Given the description of an element on the screen output the (x, y) to click on. 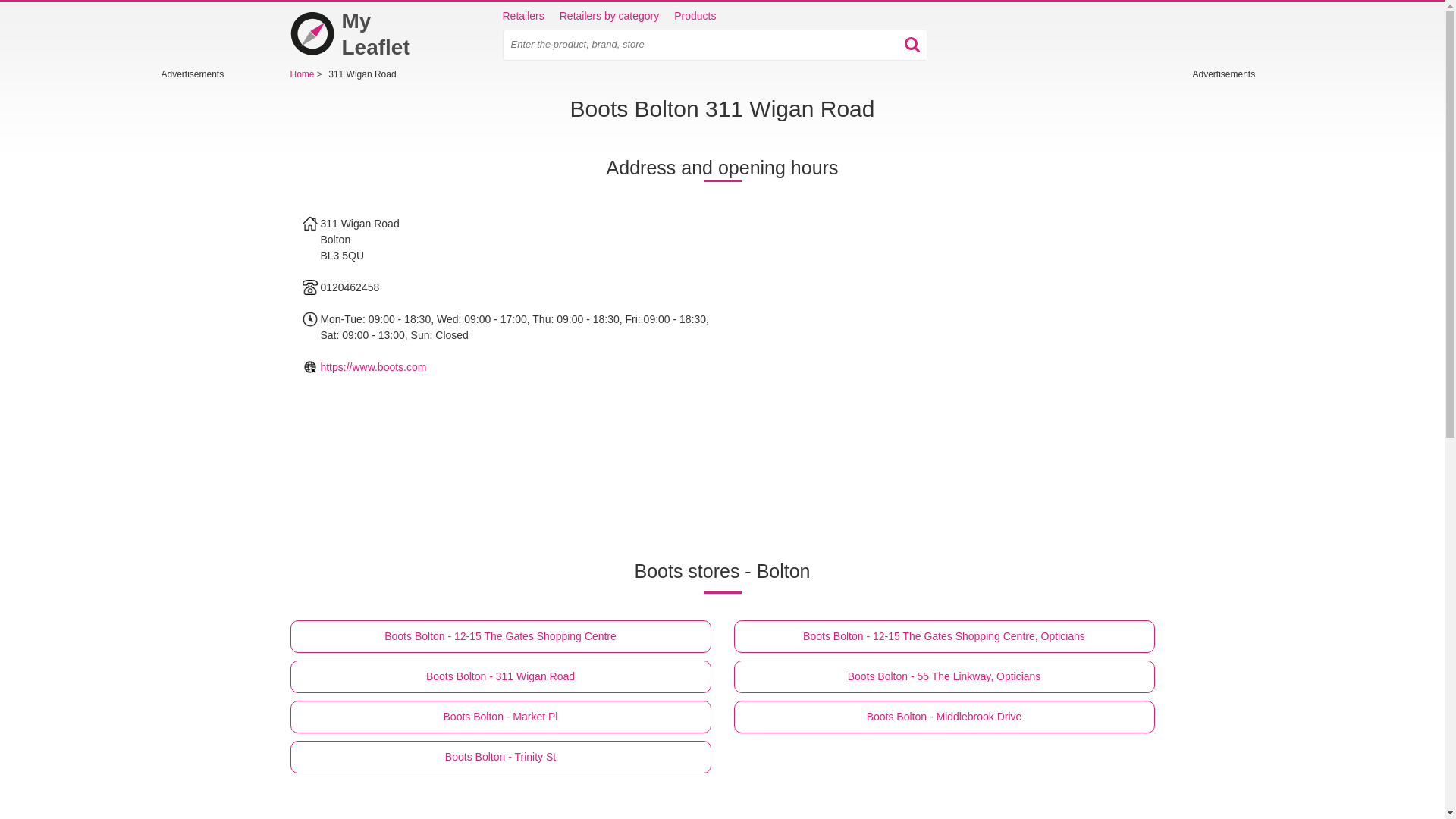
Boots Bolton - Market Pl (499, 717)
Boots Bolton - 12-15 The Gates Shopping Centre (499, 635)
Home (365, 33)
Boots Bolton - 55 The Linkway, Opticians (943, 676)
Retailers (522, 16)
My Leaflet (365, 33)
Boots Bolton - Trinity St (499, 757)
Home (302, 73)
Boots Bolton - 311 Wigan Road (499, 676)
Boots Bolton - Middlebrook Drive (943, 717)
